Given the description of an element on the screen output the (x, y) to click on. 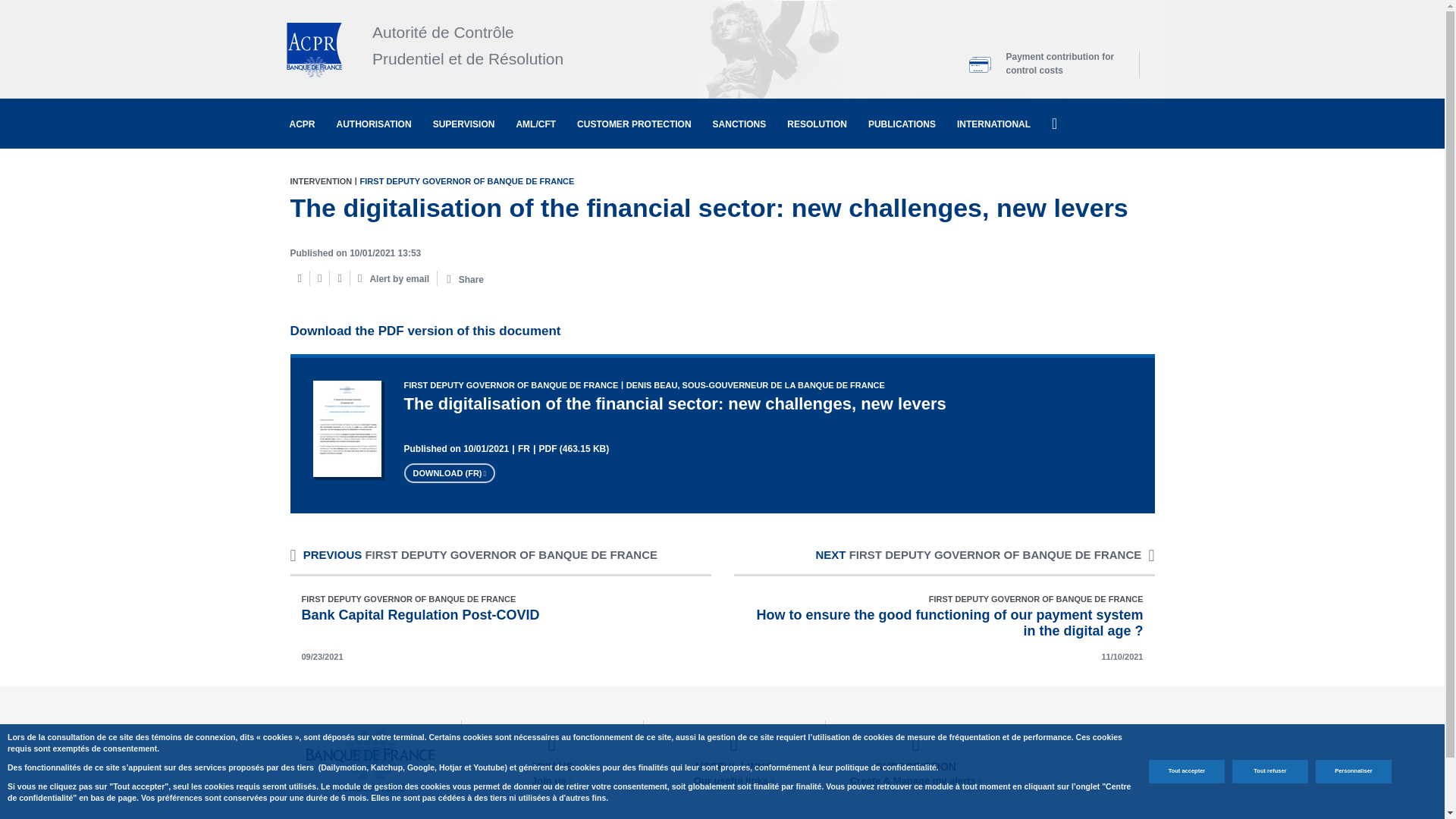
Tout accepter (1186, 771)
Personnaliser (1353, 771)
Alert by email (393, 277)
Print (298, 278)
Tout refuser (1269, 771)
PDF (339, 278)
Email (319, 278)
